Given the description of an element on the screen output the (x, y) to click on. 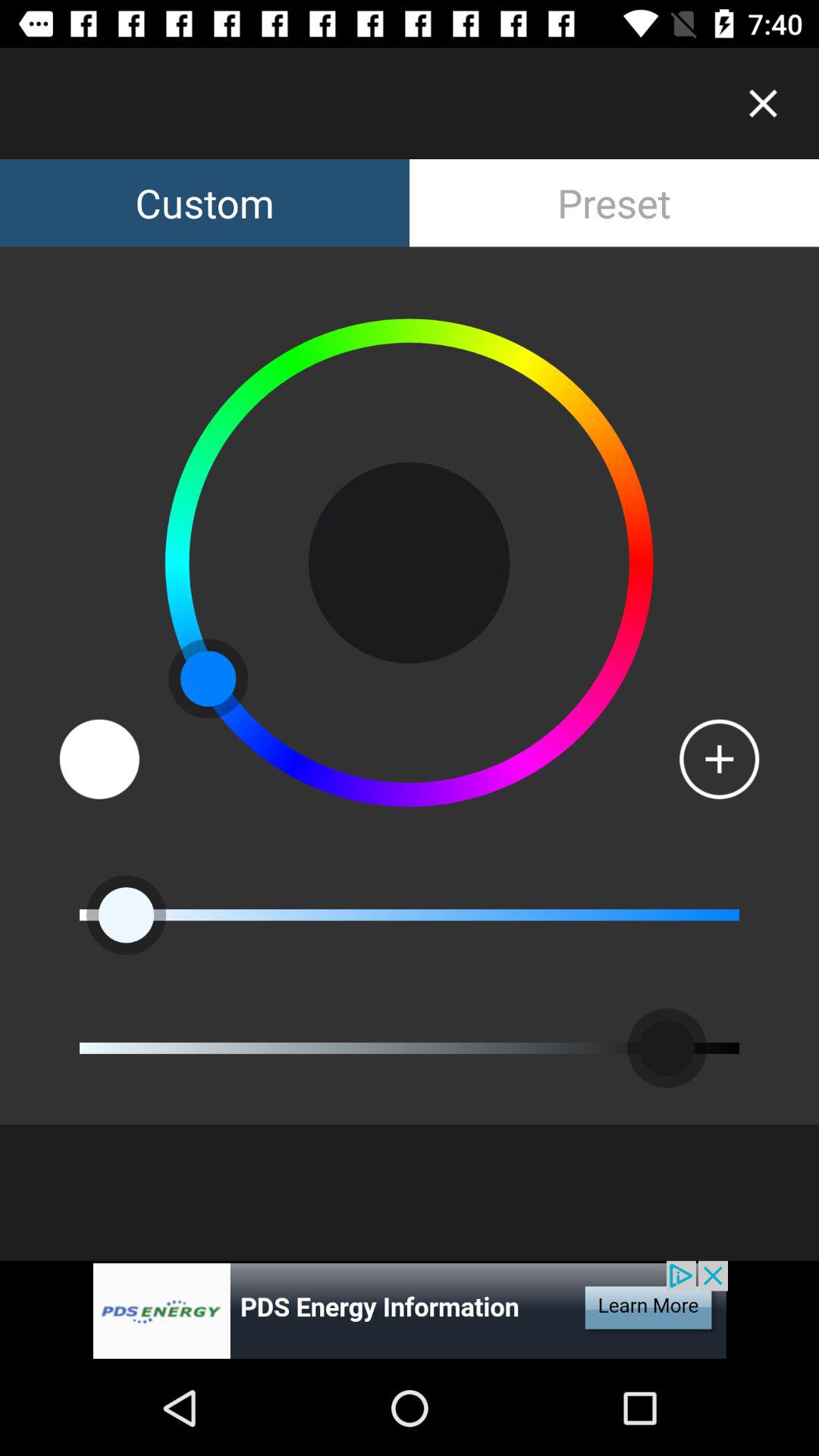
color set icon (99, 759)
